Given the description of an element on the screen output the (x, y) to click on. 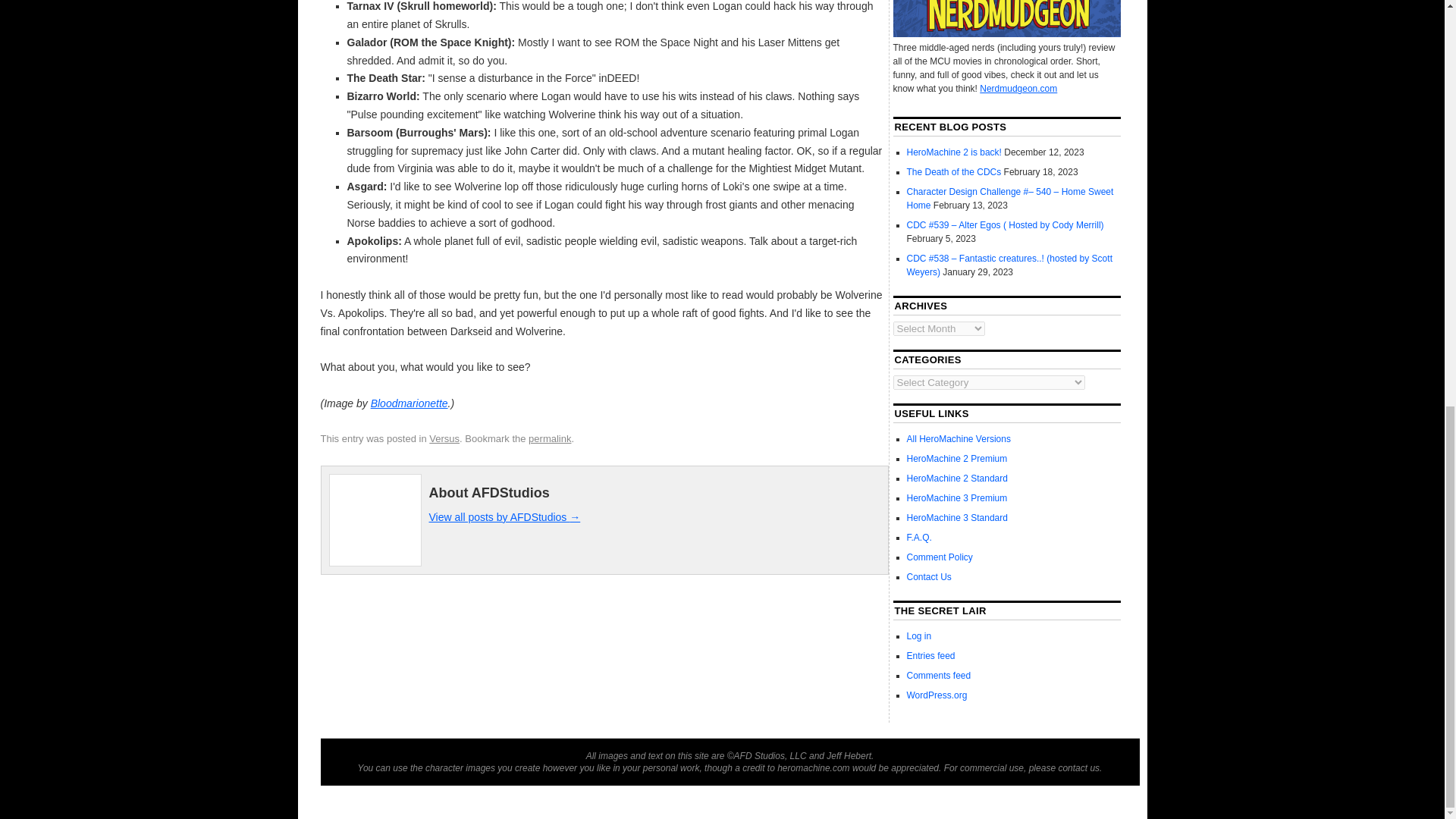
Comment Policy (939, 557)
HeroMachine 3 Premium (957, 498)
HeroMachine 2 is back! (954, 152)
Nerdmudgeon.com (1018, 88)
HeroMachine 3 Standard (957, 517)
permalink (549, 438)
Permalink to Poll Position: Planet Wolverine (549, 438)
Bloodmarionette (409, 403)
HeroMachine 2 Premium (957, 458)
Versus (444, 438)
All HeroMachine Versions (958, 439)
The Death of the CDCs (954, 172)
HeroMachine 2 Standard (957, 478)
F.A.Q. (919, 537)
